Given the description of an element on the screen output the (x, y) to click on. 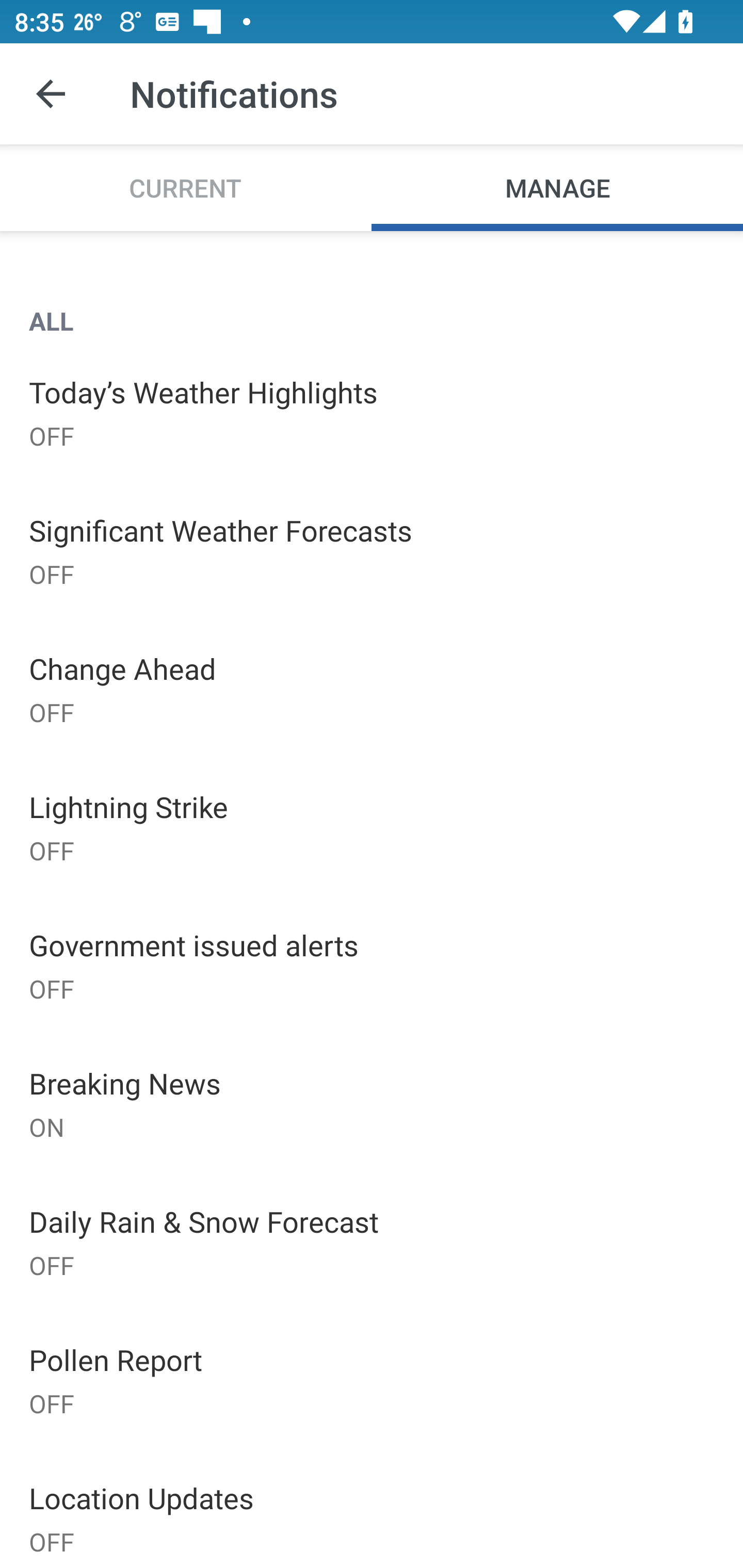
Navigate up (50, 93)
Current Tab CURRENT (185, 187)
Today’s Weather Highlights OFF (371, 412)
Significant Weather Forecasts OFF (371, 550)
Change Ahead OFF (371, 688)
Lightning Strike OFF (371, 827)
Government issued alerts OFF (371, 965)
Breaking News ON (371, 1103)
Daily Rain & Snow Forecast OFF (371, 1241)
Pollen Report OFF (371, 1379)
Location Updates OFF (371, 1508)
